Given the description of an element on the screen output the (x, y) to click on. 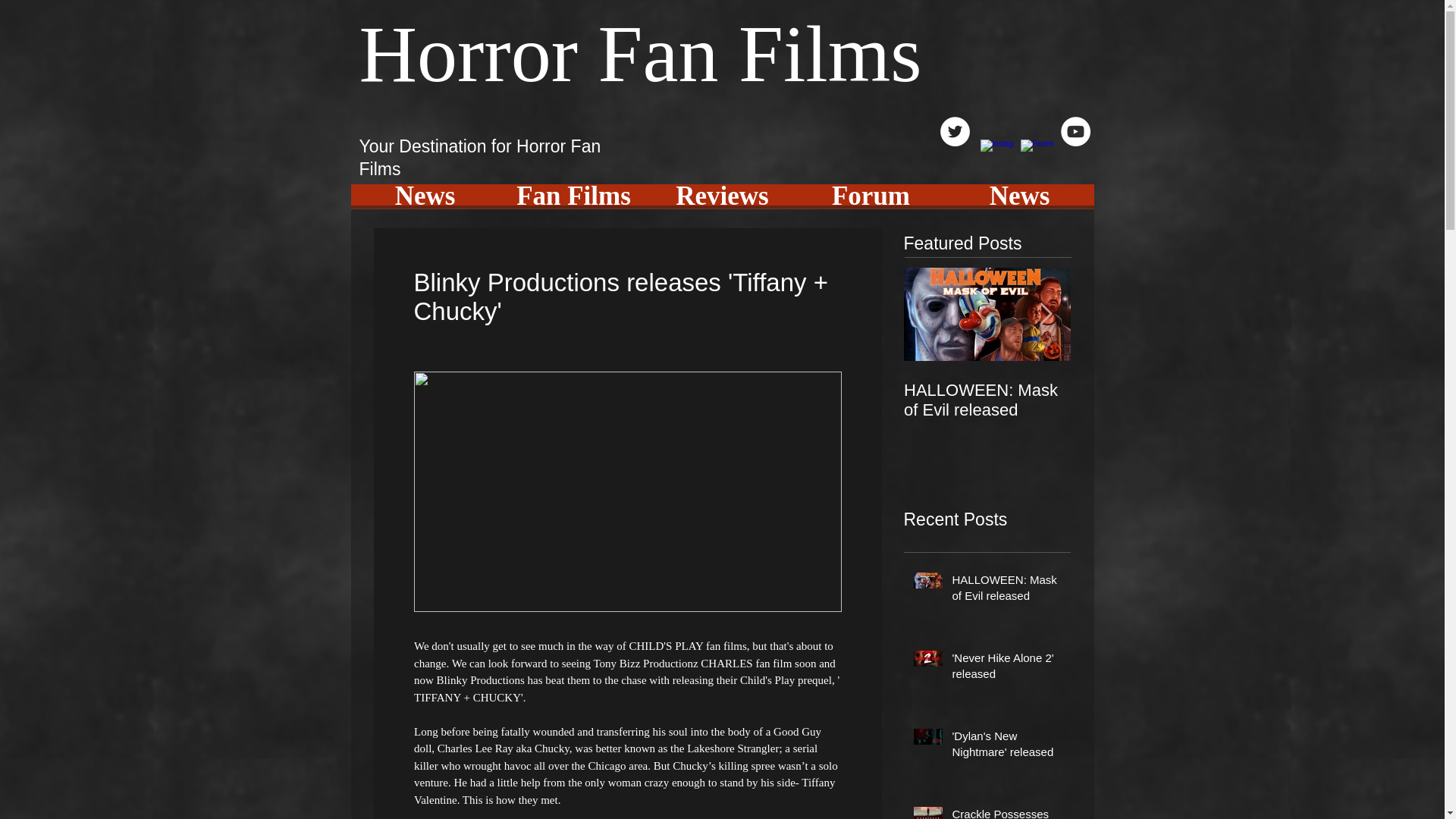
Fan Films (573, 201)
Forum (870, 201)
Horror Fan Films (640, 52)
News (1018, 201)
News (424, 201)
Reviews (721, 201)
